Given the description of an element on the screen output the (x, y) to click on. 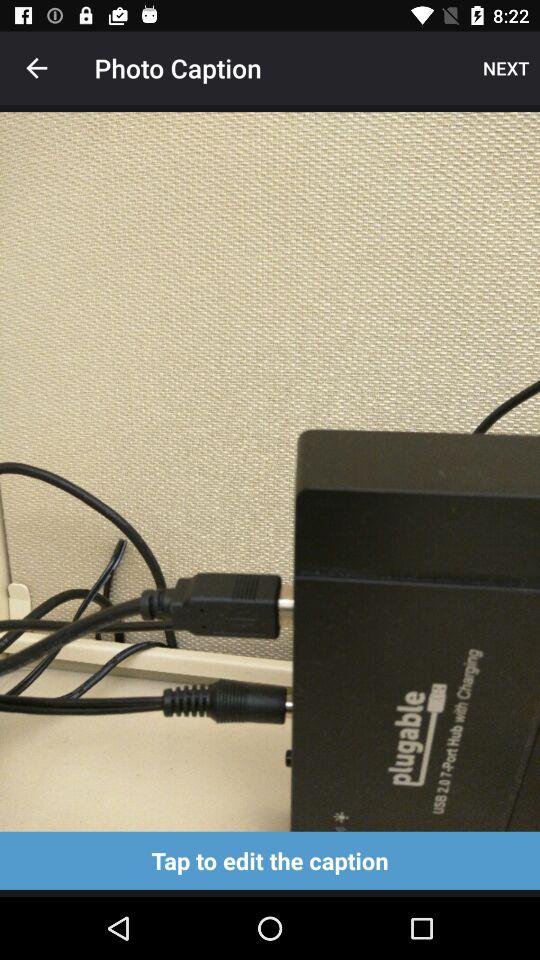
select to edit the caption (270, 860)
